Given the description of an element on the screen output the (x, y) to click on. 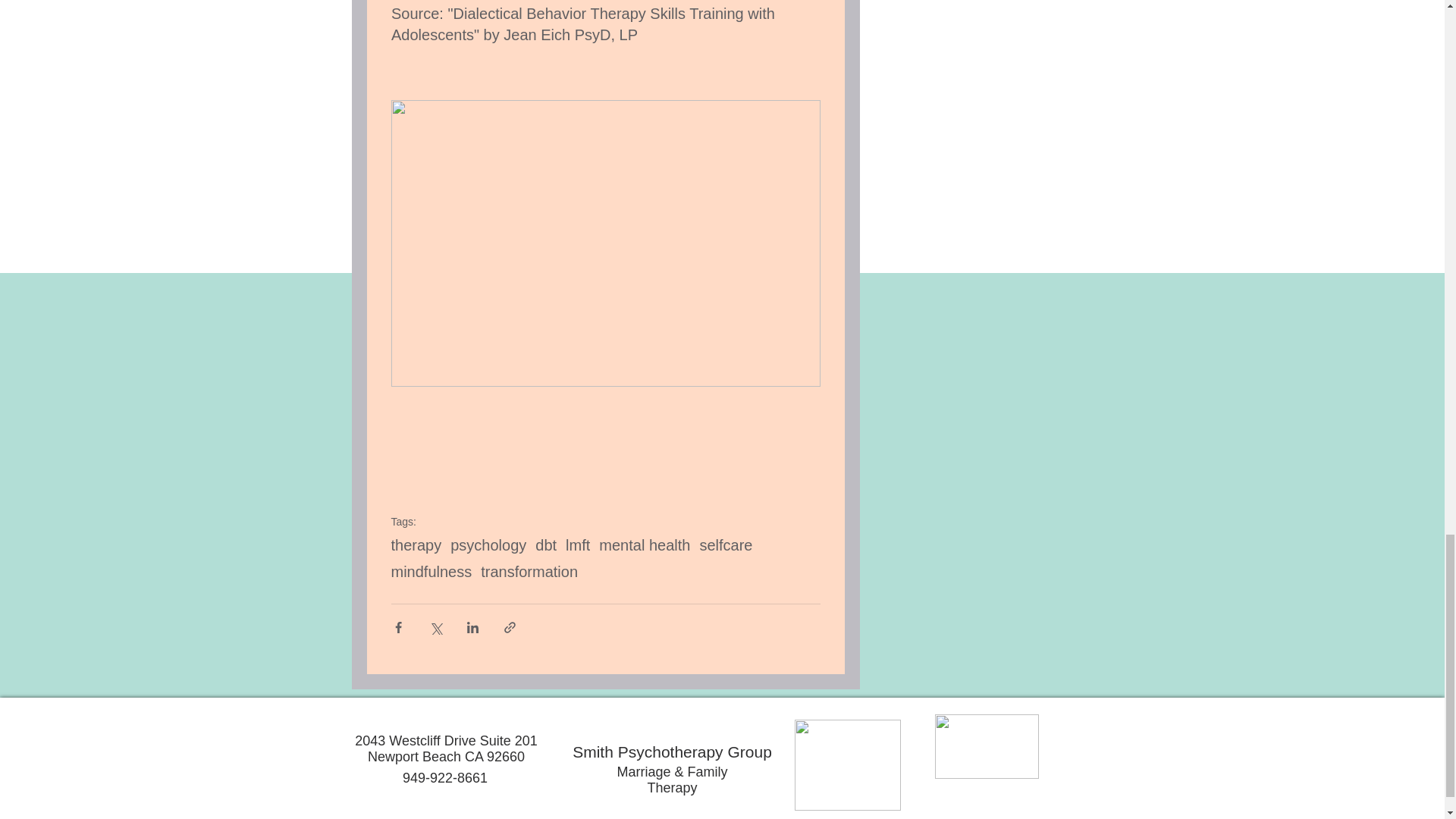
dbt (545, 545)
psychology (487, 545)
transformation (529, 571)
selfcare (725, 545)
mindfulness (431, 571)
mental health (644, 545)
therapy (416, 545)
lmft (577, 545)
